Given the description of an element on the screen output the (x, y) to click on. 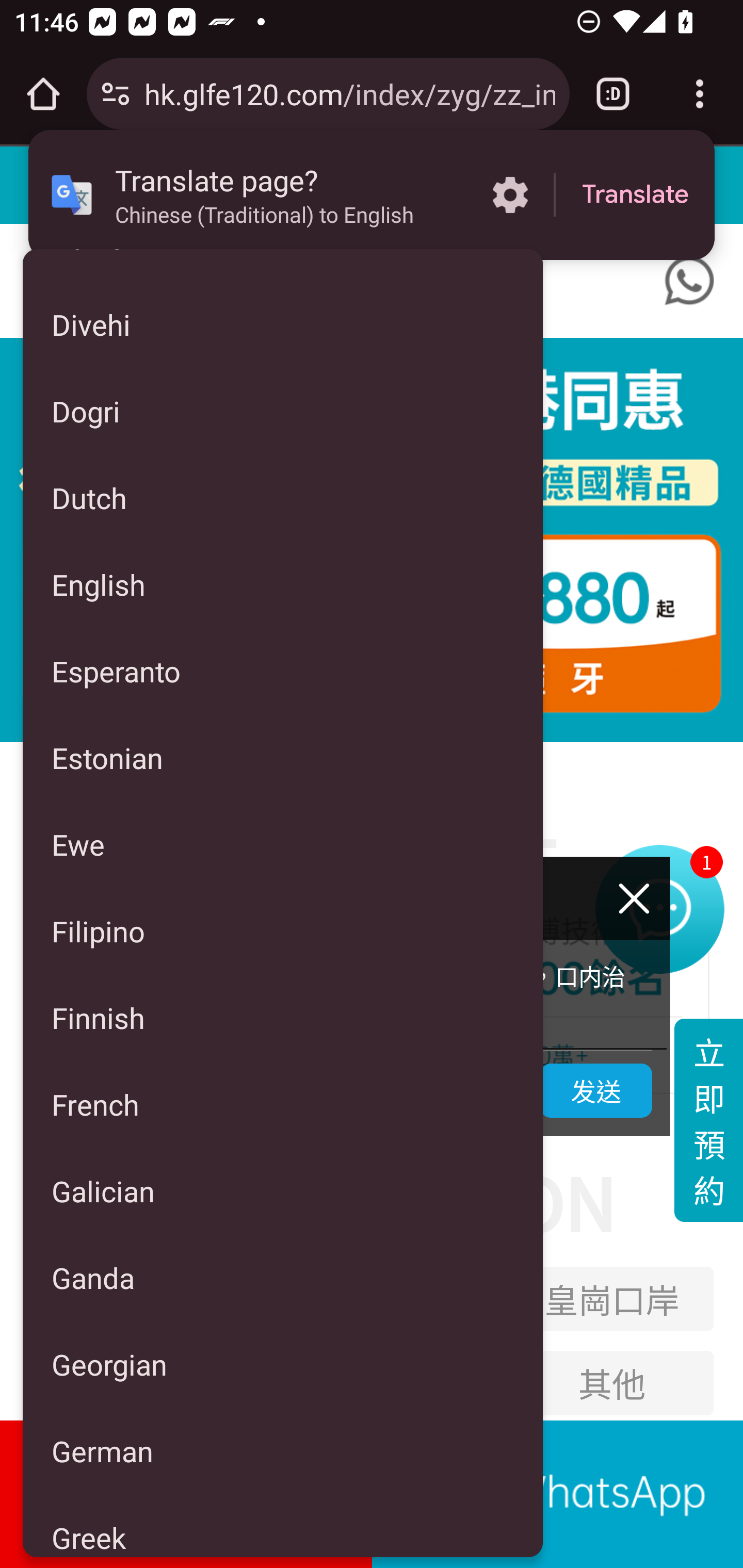
Divehi (283, 324)
Dogri (283, 411)
Dutch (283, 497)
English (283, 583)
Esperanto (283, 671)
Estonian (283, 758)
Ewe (283, 844)
Filipino (283, 930)
Finnish (283, 1017)
French (283, 1104)
Galician (283, 1190)
Ganda (283, 1277)
Georgian (283, 1364)
German (283, 1451)
Greek (283, 1525)
